Given the description of an element on the screen output the (x, y) to click on. 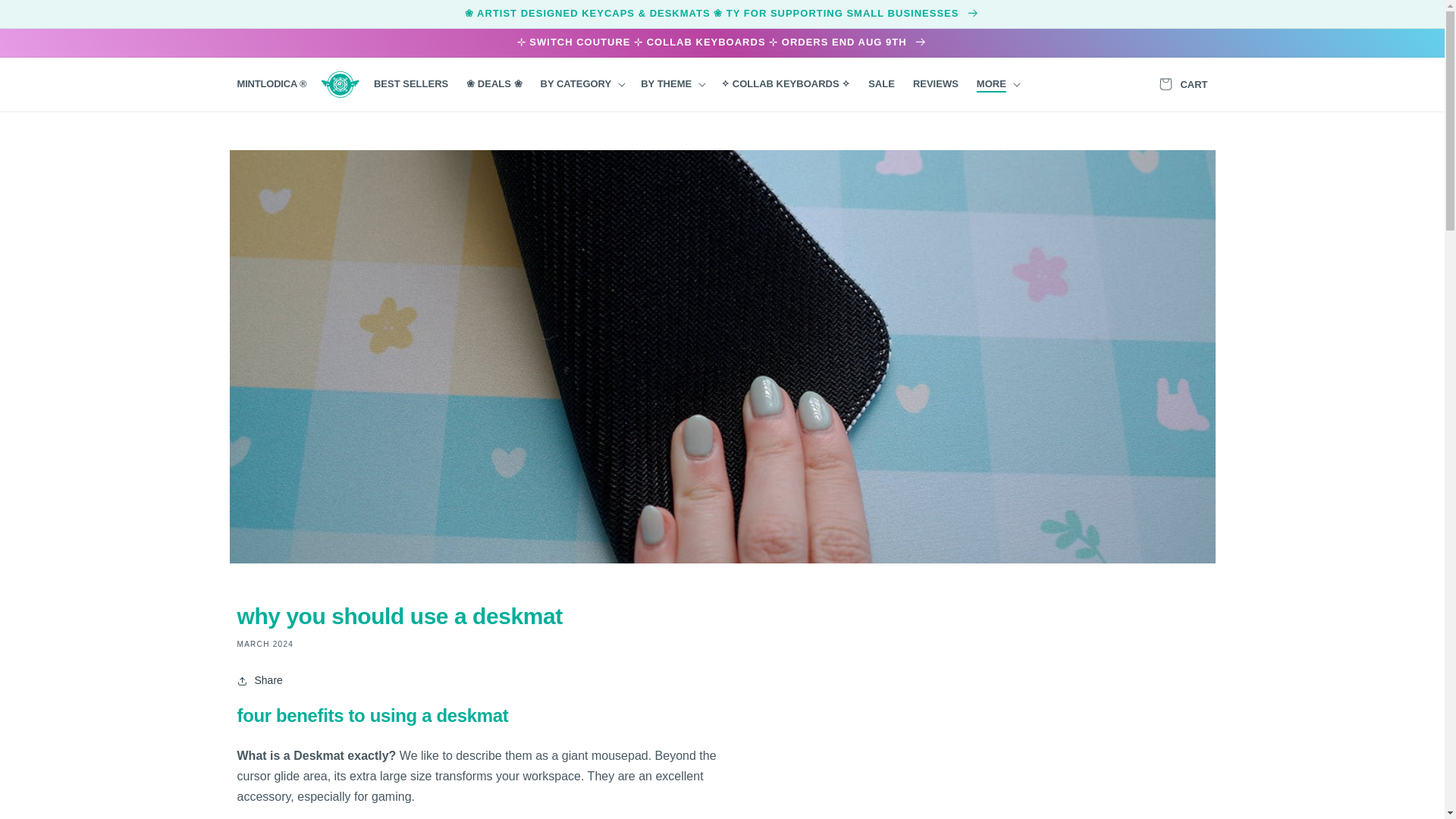
SKIP TO CONTENT (45, 16)
REVIEWS (936, 83)
SALE (881, 83)
BEST SELLERS (411, 83)
